Given the description of an element on the screen output the (x, y) to click on. 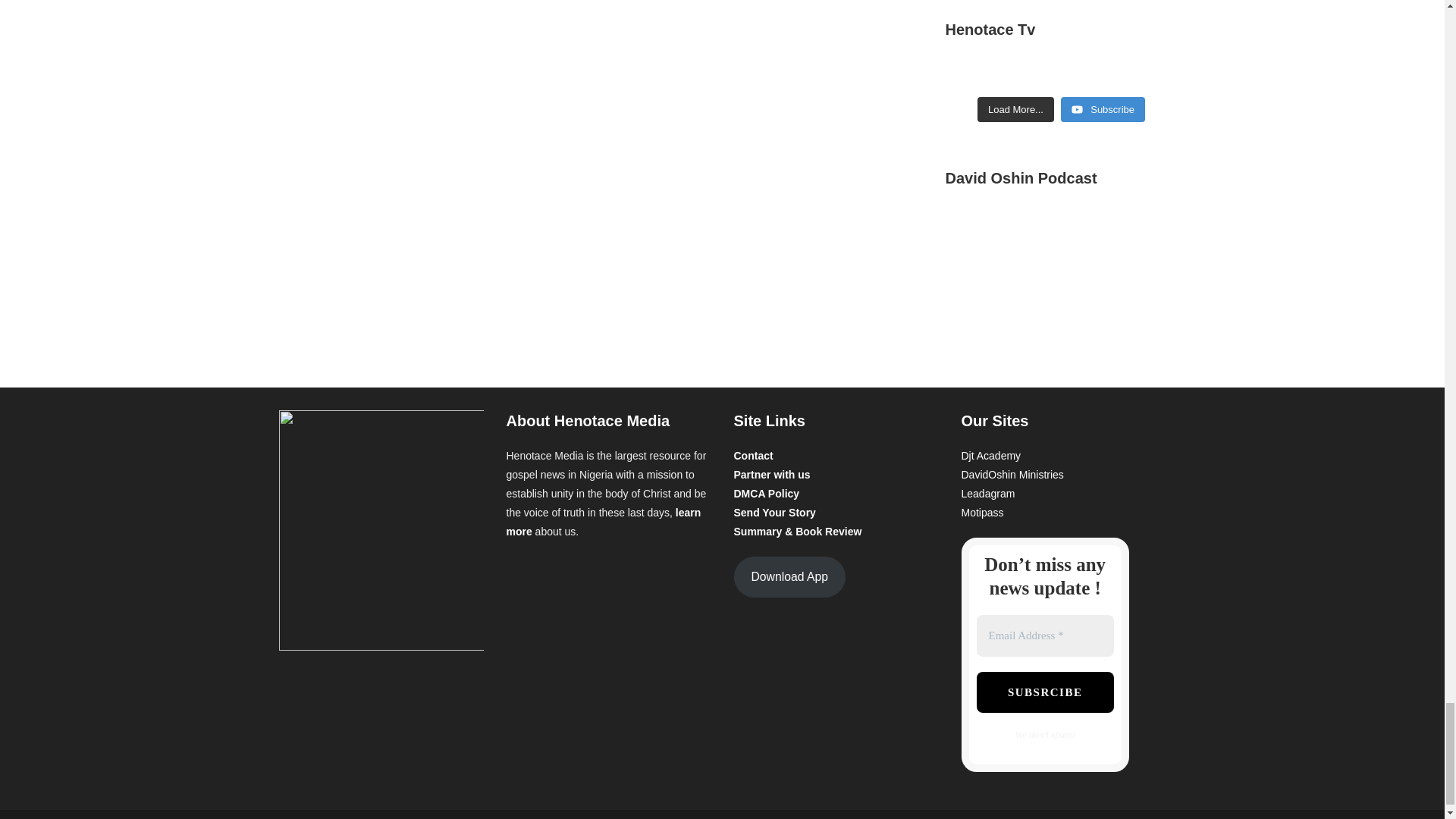
Spotify Embed: David Oshin (1060, 268)
Subsrcibe (1044, 692)
Email Address (1044, 635)
